Given the description of an element on the screen output the (x, y) to click on. 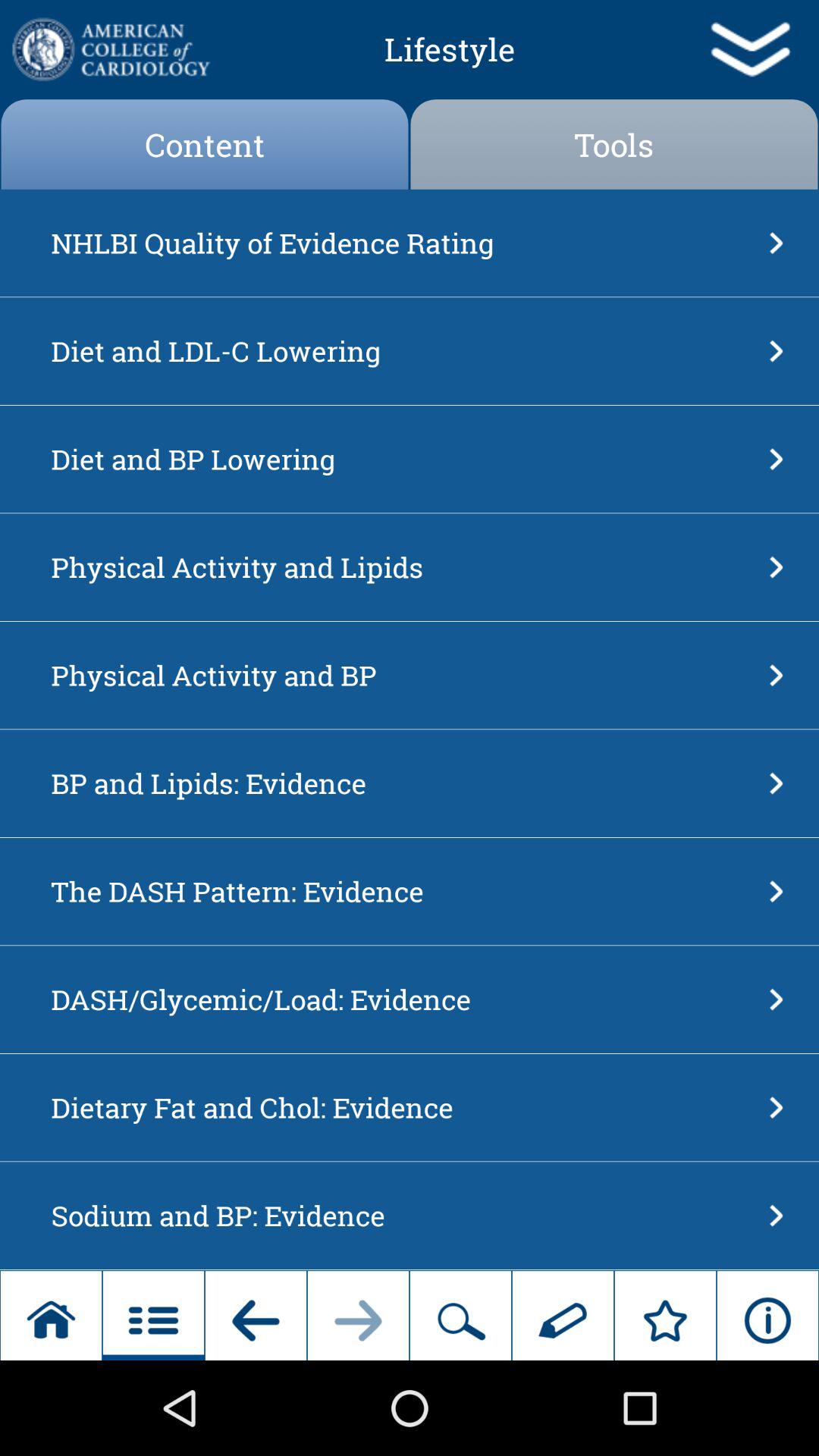
select the app below the dash pattern item (405, 999)
